Given the description of an element on the screen output the (x, y) to click on. 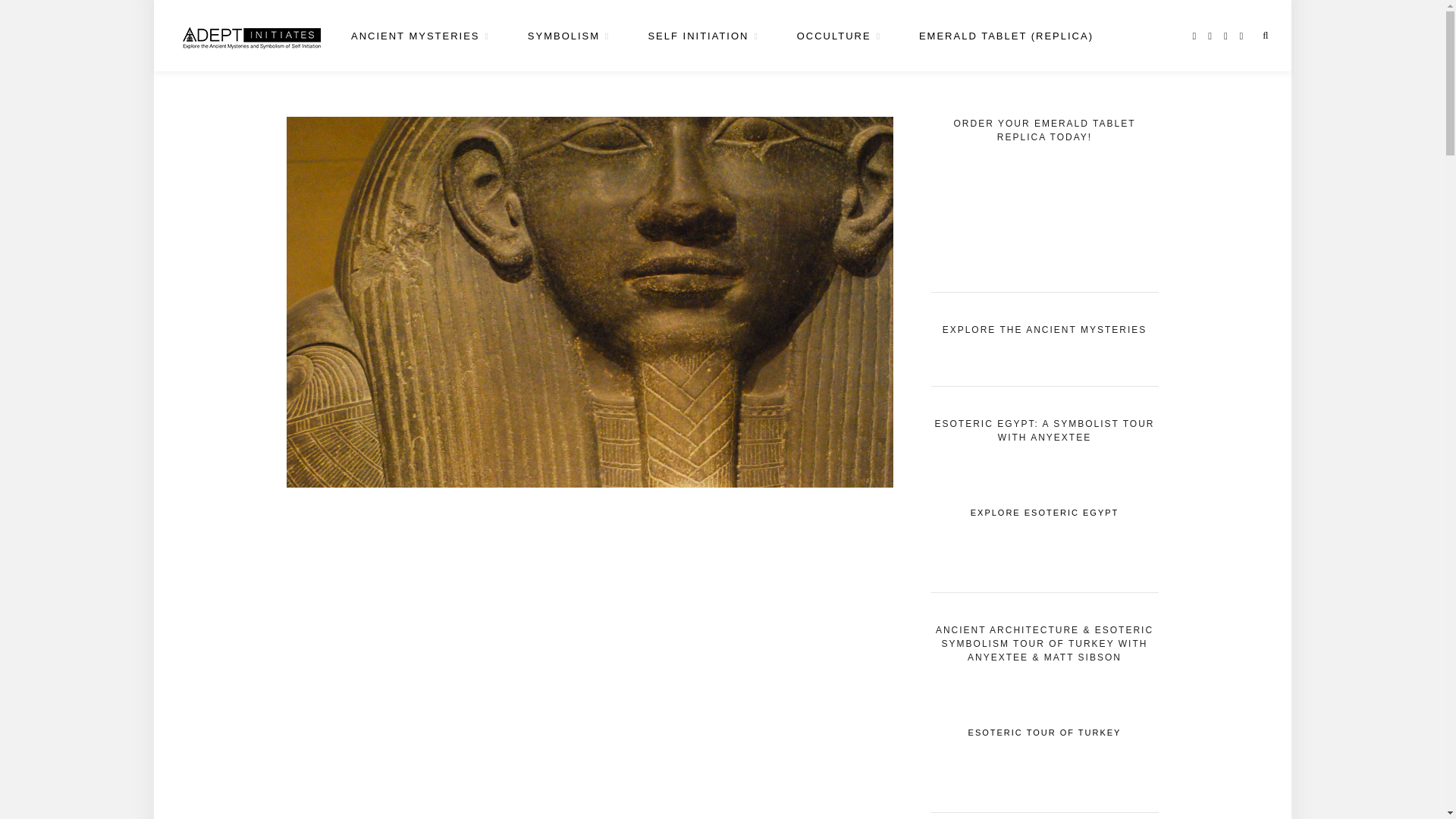
SELF INITIATION (702, 36)
ANCIENT MYSTERIES (419, 36)
OCCULTURE (838, 36)
SYMBOLISM (568, 36)
